Given the description of an element on the screen output the (x, y) to click on. 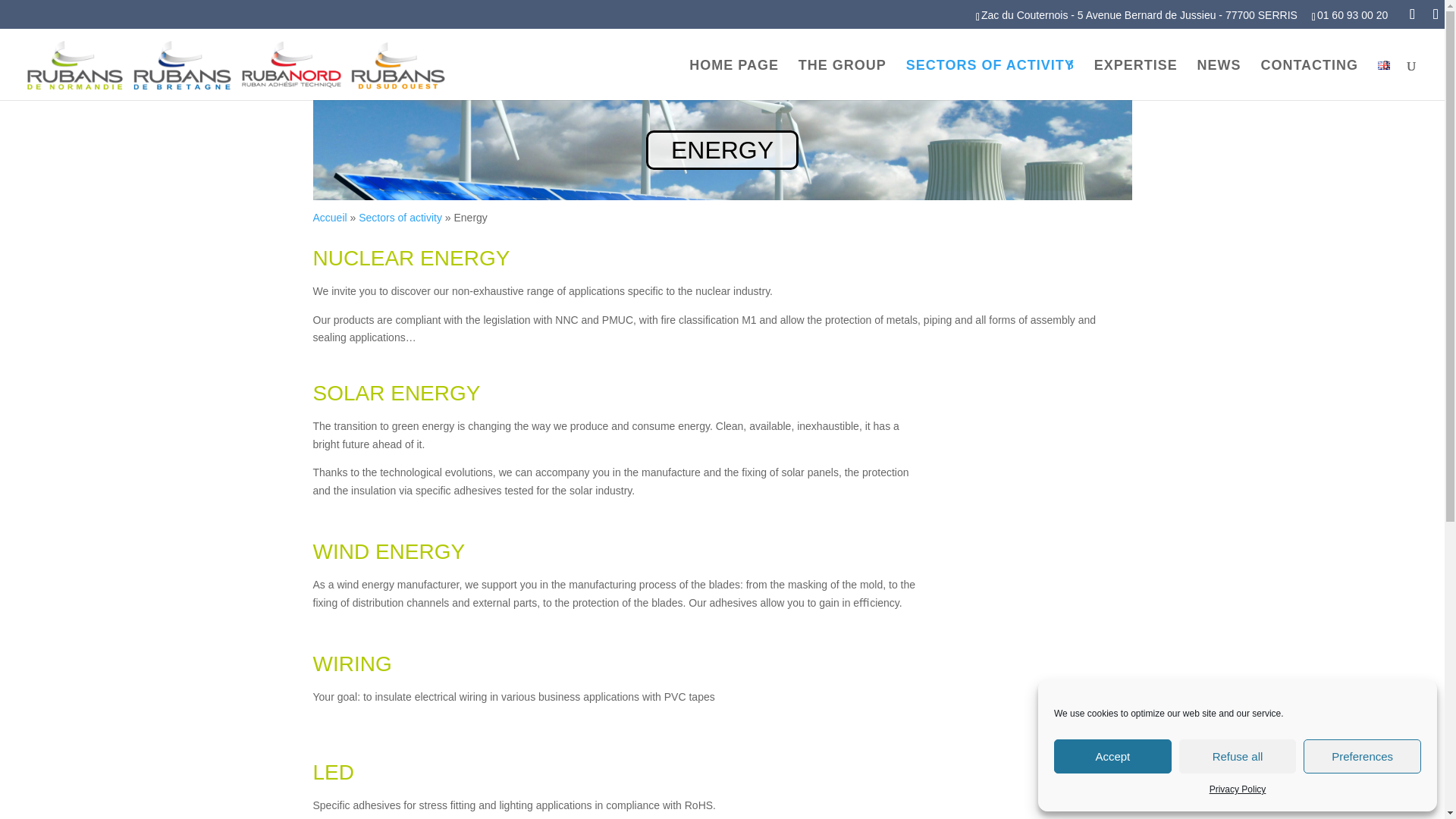
Refuse all (1238, 756)
Privacy Policy (1237, 790)
THE GROUP (841, 79)
SECTORS OF ACTIVITY (989, 79)
Preferences (1362, 756)
Accept (1113, 756)
HOME PAGE (733, 79)
